Given the description of an element on the screen output the (x, y) to click on. 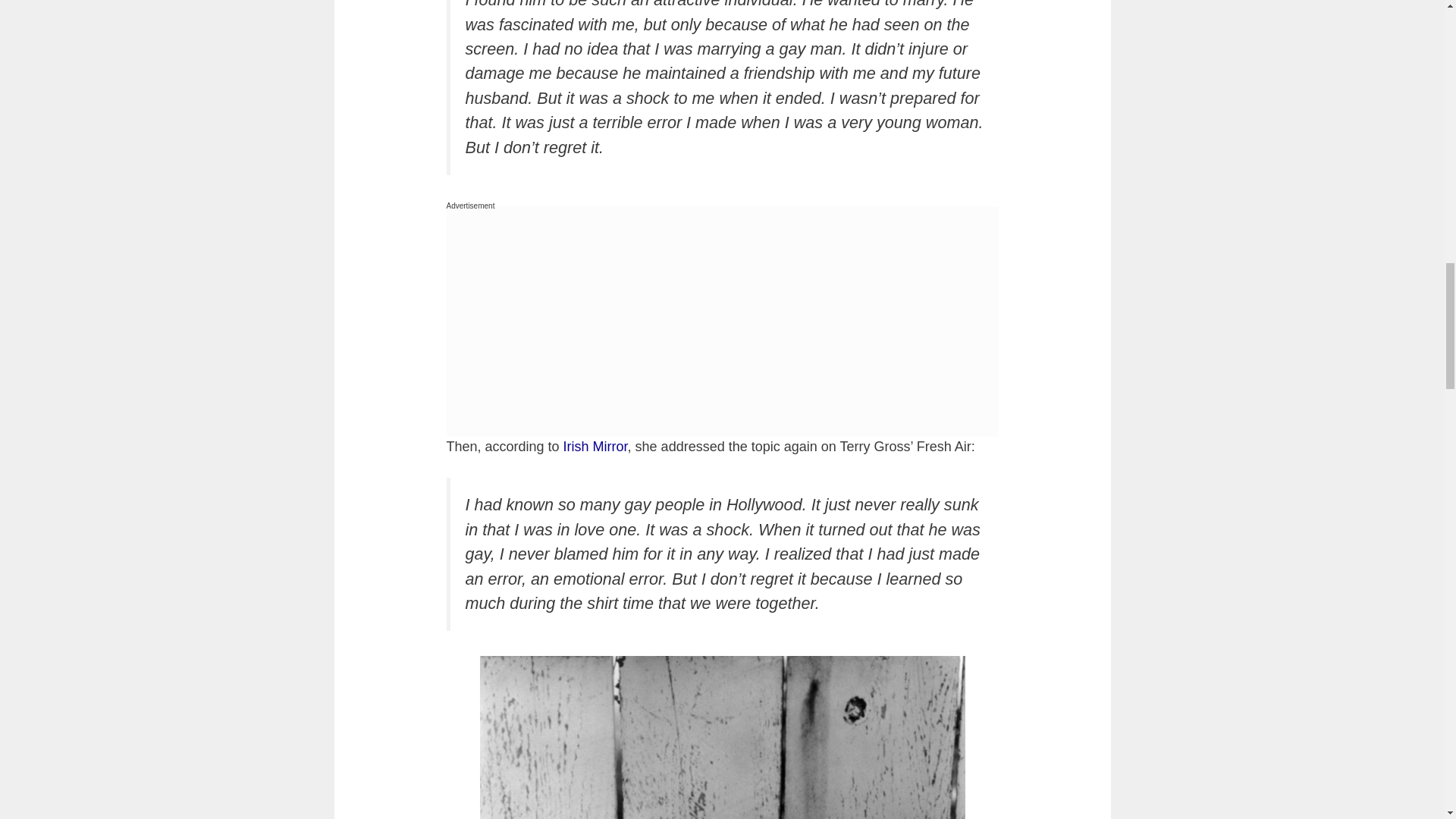
Irish Mirror (595, 446)
